Given the description of an element on the screen output the (x, y) to click on. 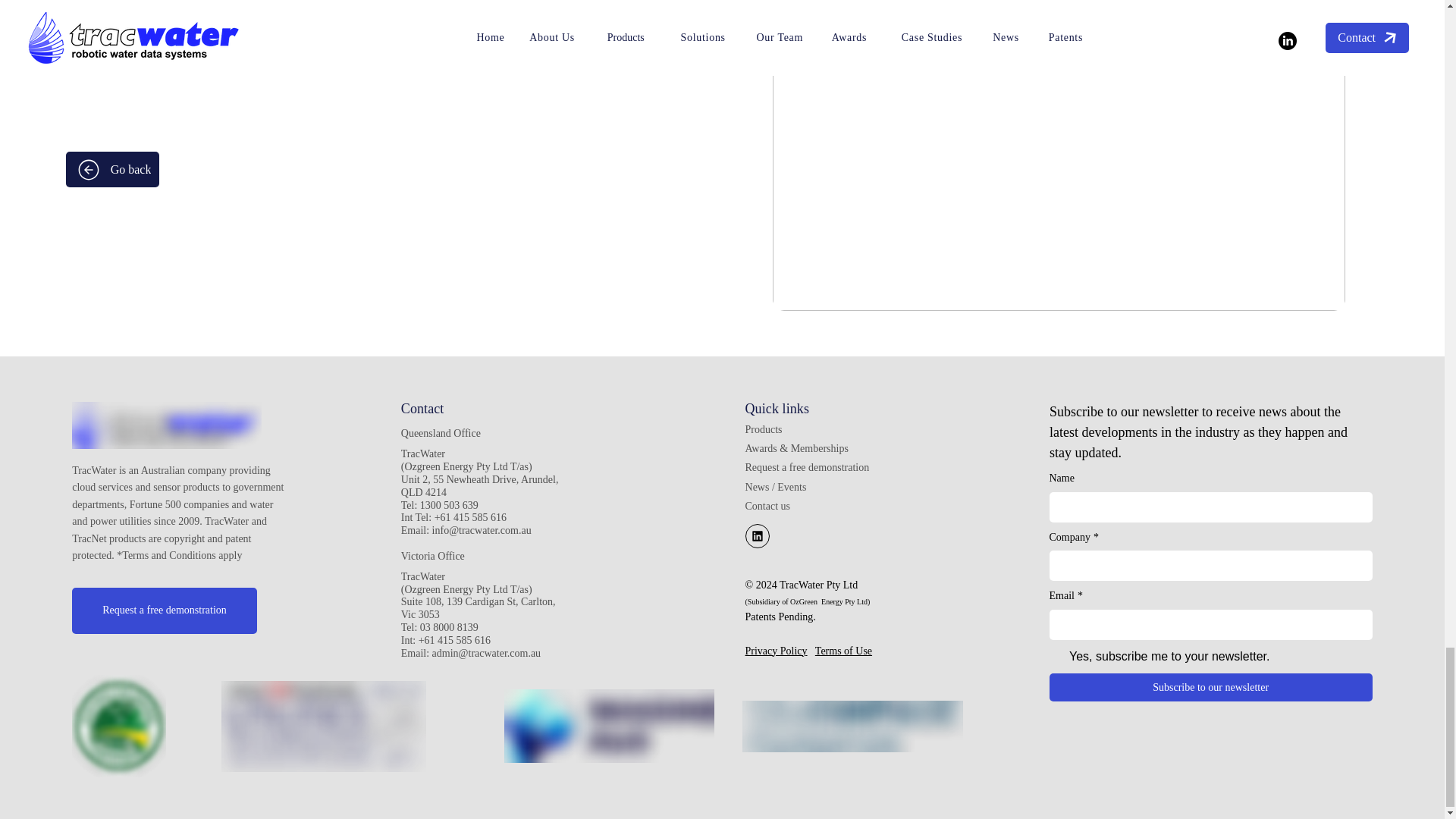
Subscribe to our newsletter (1211, 687)
Privacy Policy (776, 650)
